Given the description of an element on the screen output the (x, y) to click on. 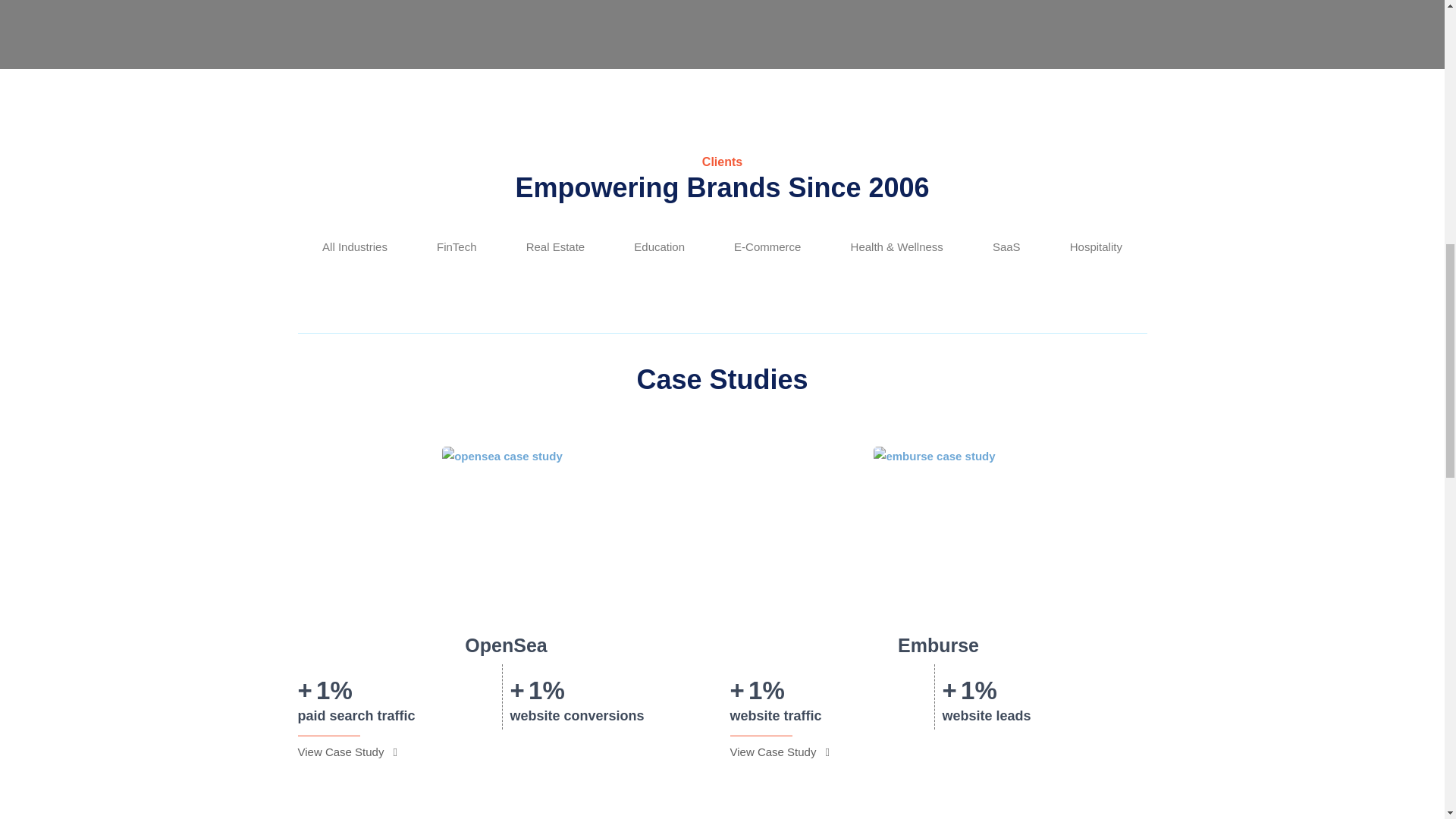
Emburse (938, 645)
View Case Study (346, 752)
View Case Study (778, 752)
OpenSea (505, 645)
